Given the description of an element on the screen output the (x, y) to click on. 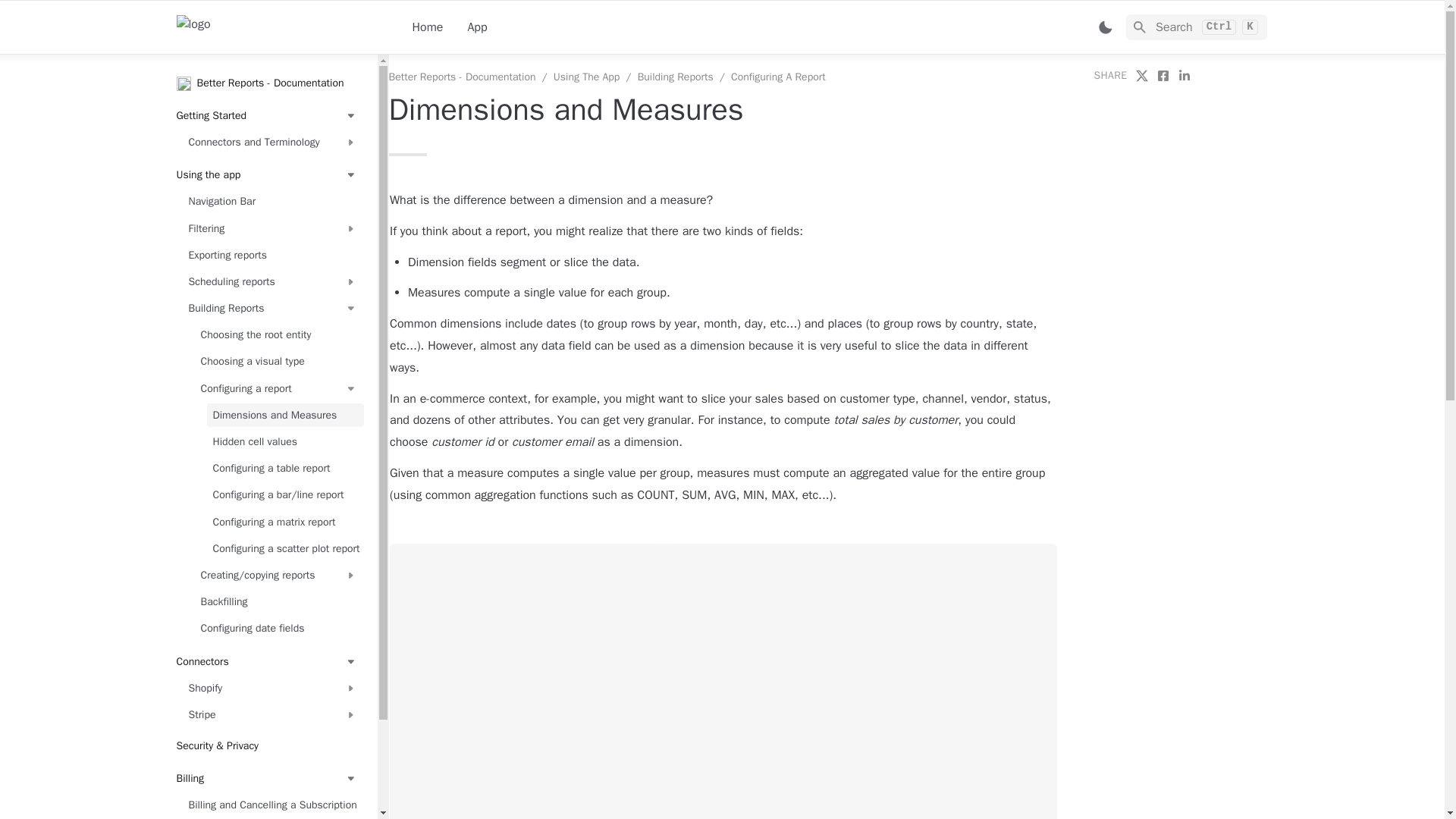
Billing and Cancelling a Subscription (272, 805)
Connectors and Terminology (272, 141)
Configuring a report (277, 388)
Configuring a matrix report (284, 521)
Connectors (266, 661)
Home (428, 27)
Hidden cell values (284, 441)
Navigation Bar (272, 201)
Using the app (266, 175)
Using The App (586, 77)
